Given the description of an element on the screen output the (x, y) to click on. 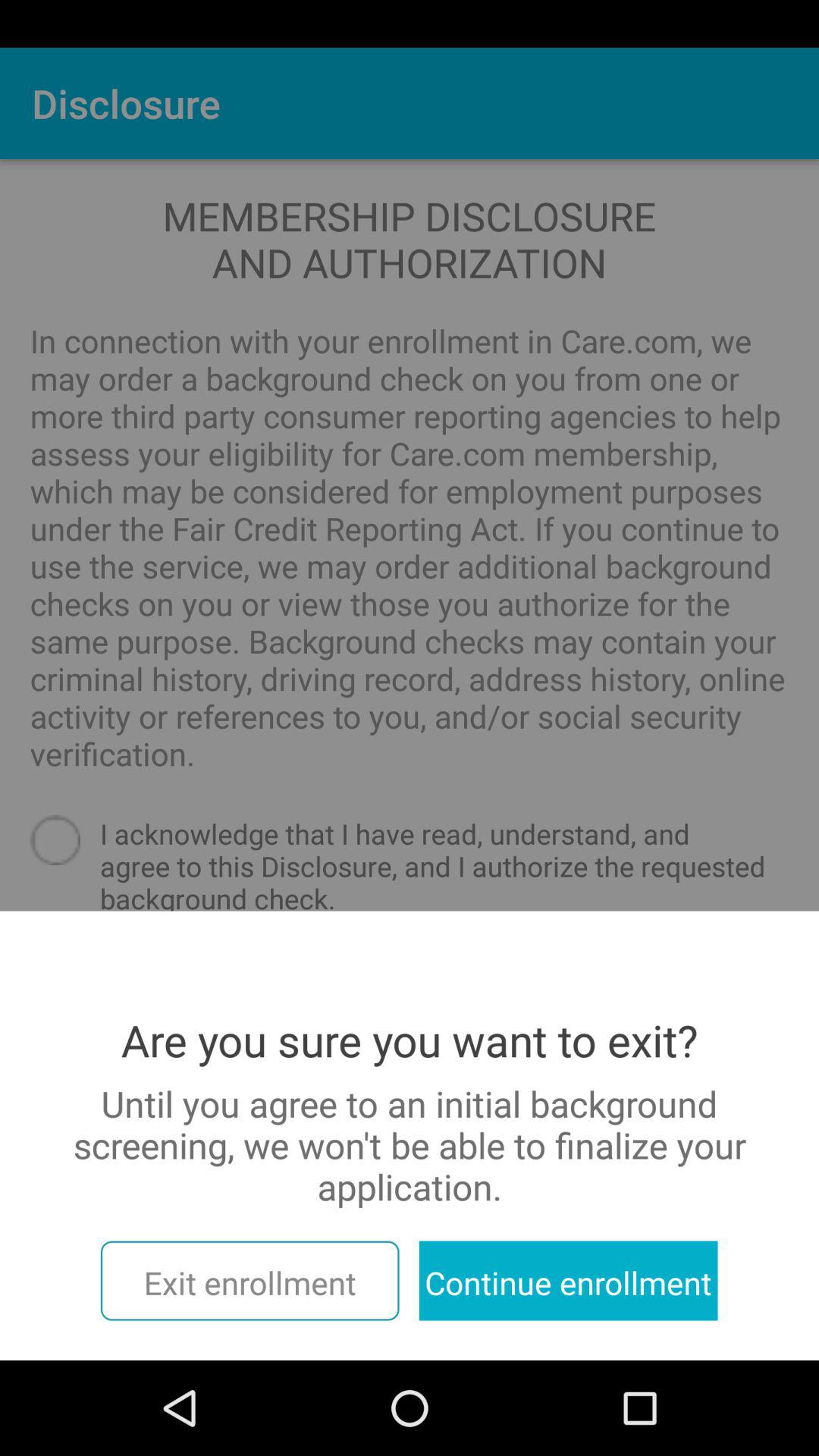
swipe until continue enrollment item (568, 1280)
